Given the description of an element on the screen output the (x, y) to click on. 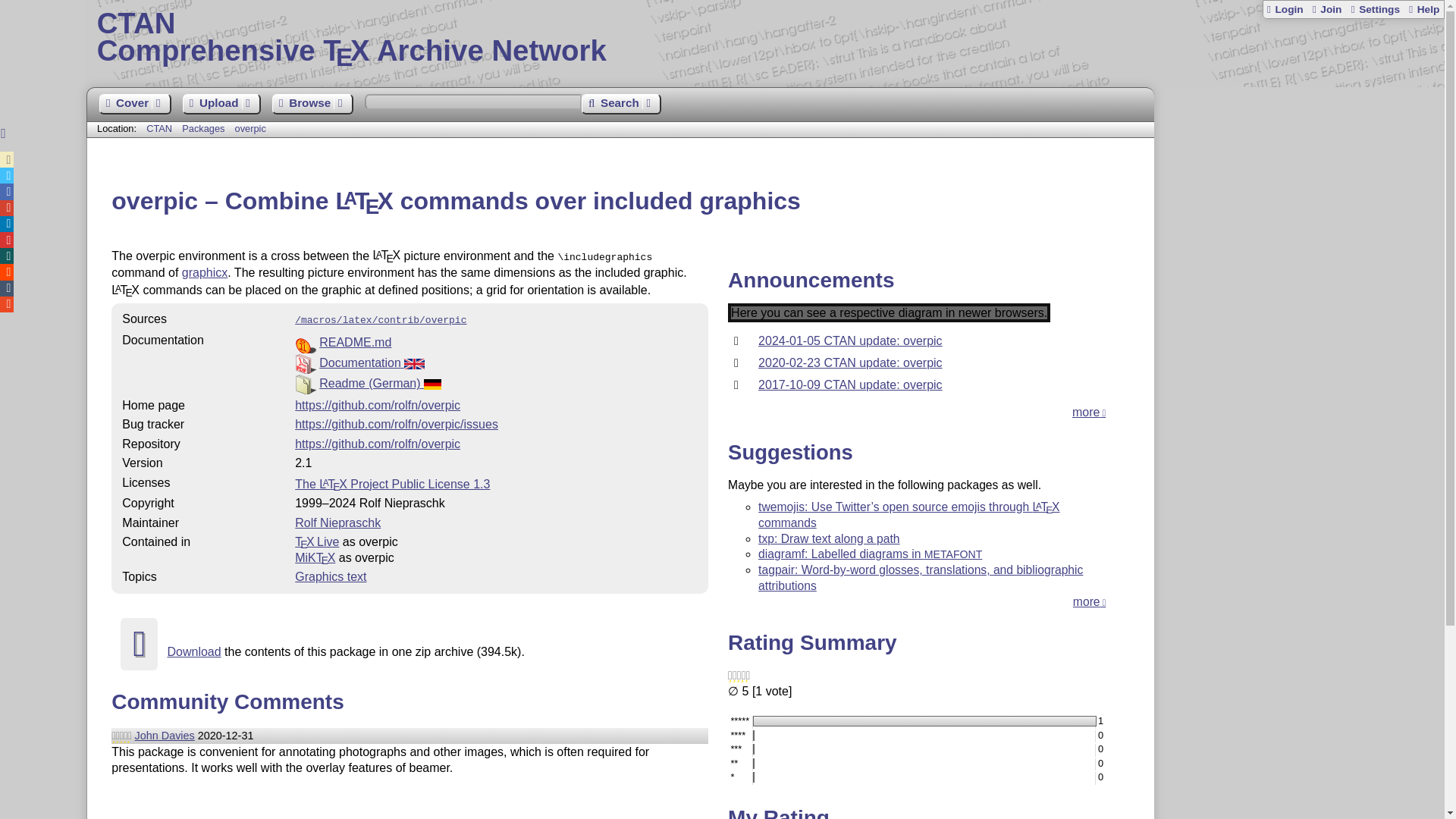
Documentation (765, 37)
CTAN (371, 362)
Settings (159, 128)
Packages (1374, 8)
graphicx (204, 128)
Search (204, 272)
Help (620, 104)
Browse (1423, 8)
Cover (312, 104)
